Given the description of an element on the screen output the (x, y) to click on. 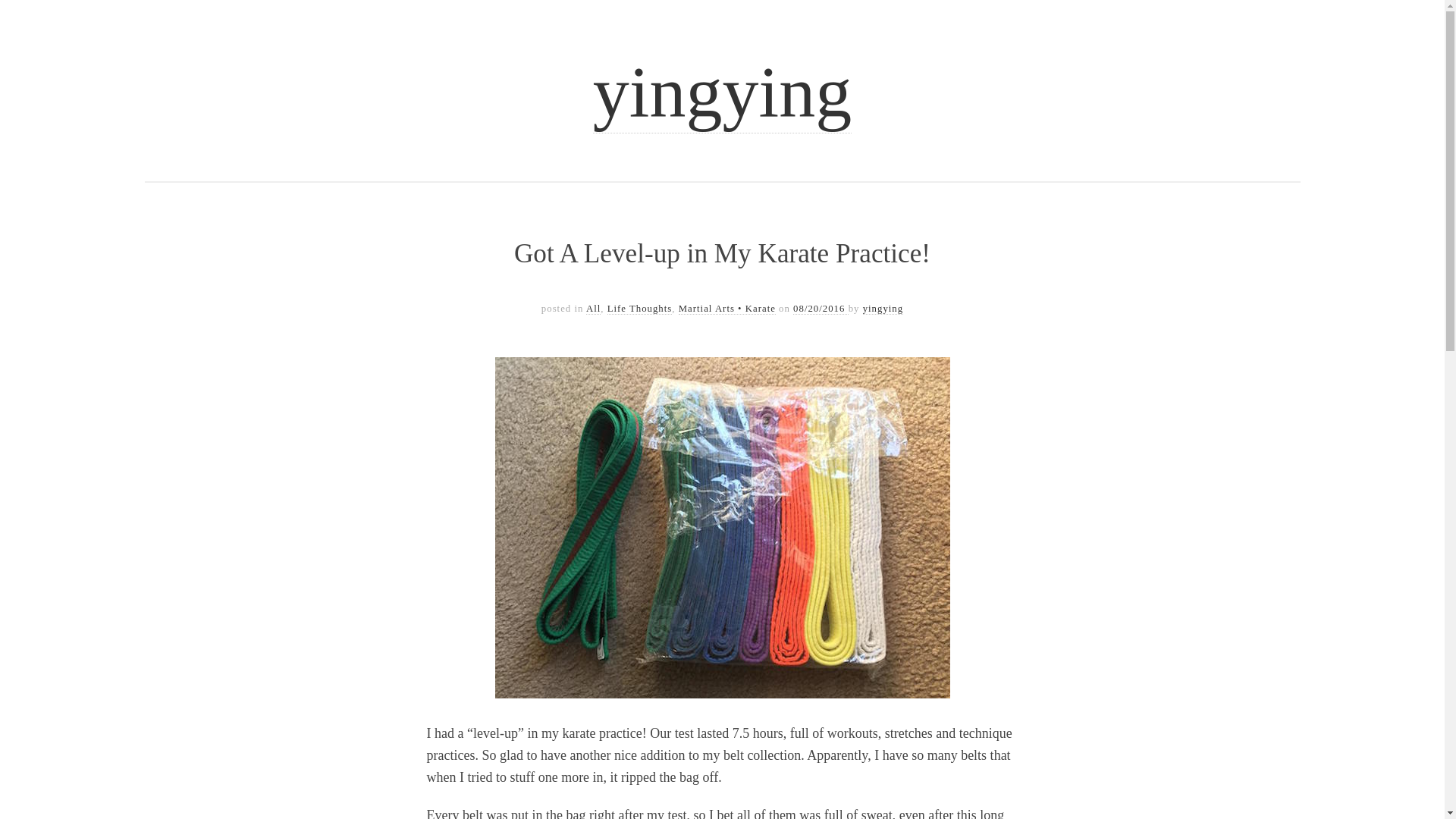
View all posts by yingying (883, 308)
yingying (721, 92)
Life Thoughts (639, 308)
yingying (883, 308)
8:02 pm (820, 308)
All (592, 308)
